Given the description of an element on the screen output the (x, y) to click on. 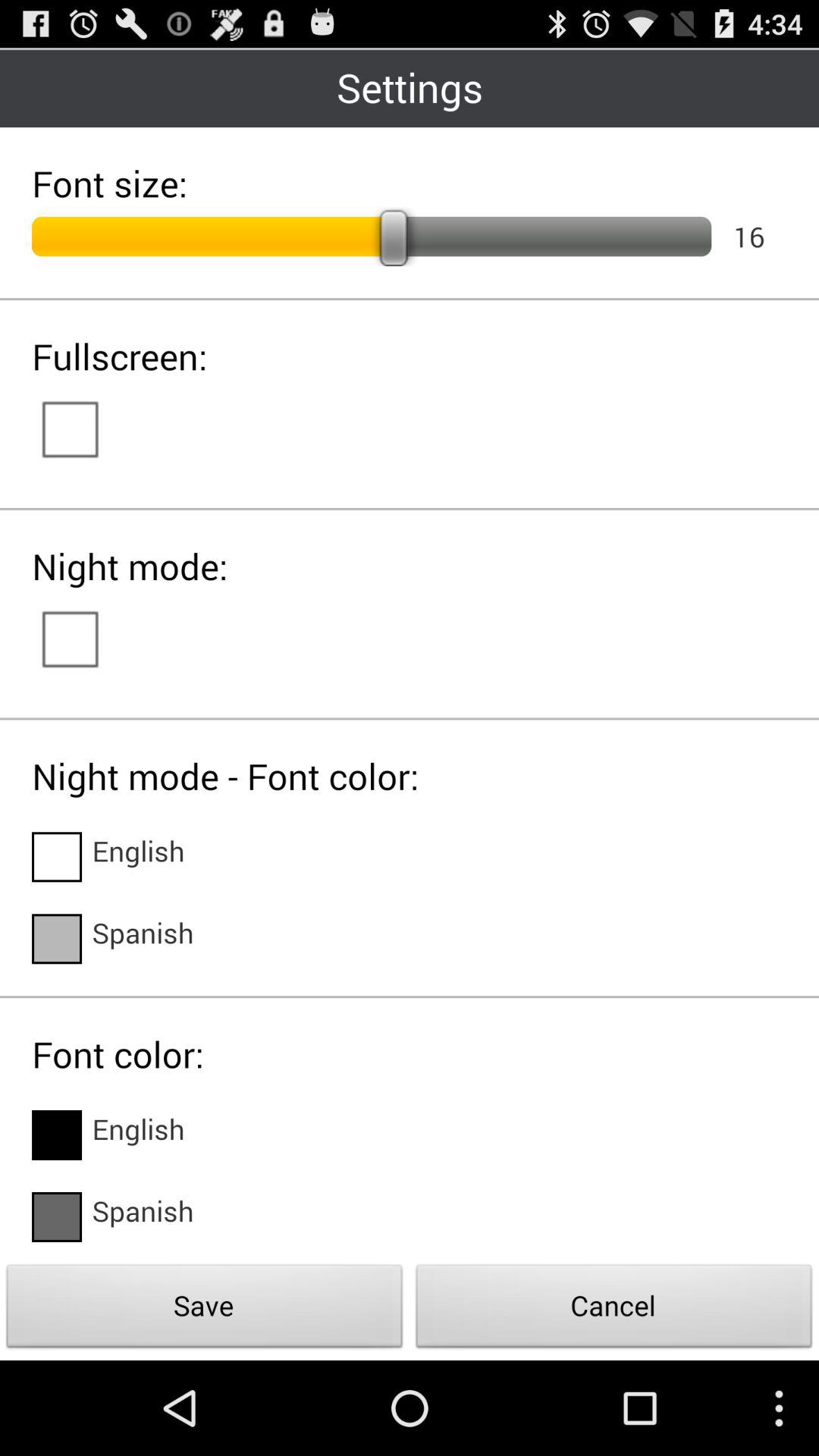
choose option button (56, 1135)
